Given the description of an element on the screen output the (x, y) to click on. 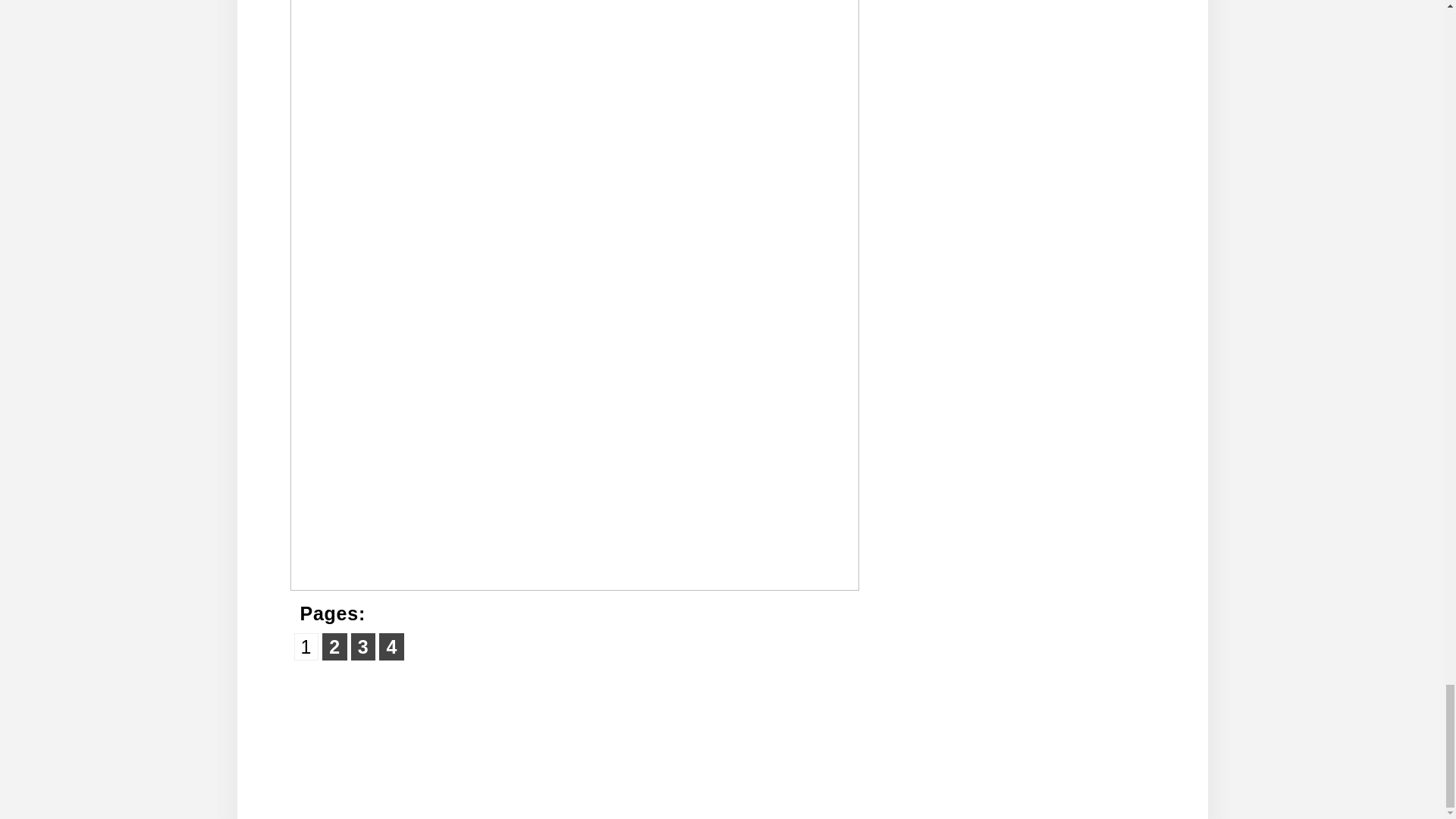
4 (391, 646)
2 (334, 646)
3 (362, 646)
